Given the description of an element on the screen output the (x, y) to click on. 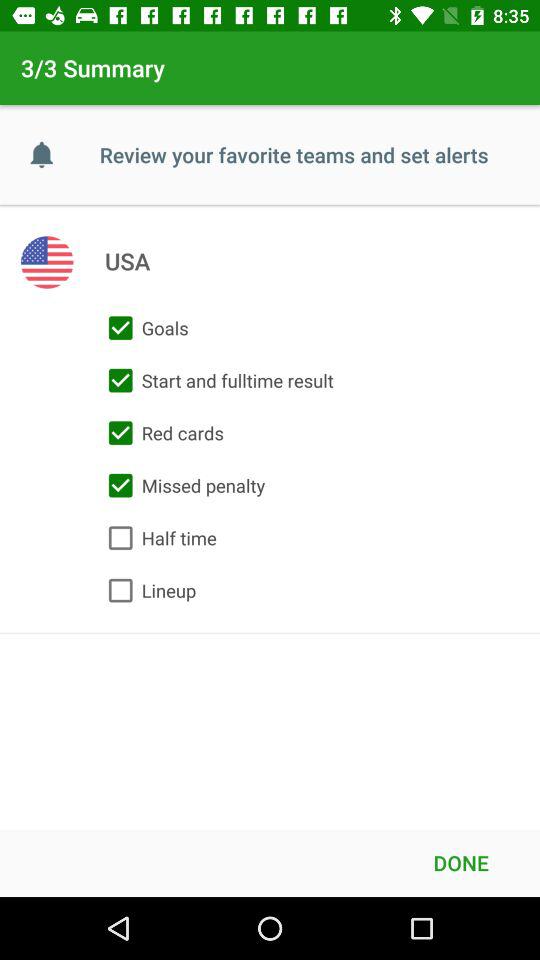
turn off item above lineup icon (157, 538)
